Given the description of an element on the screen output the (x, y) to click on. 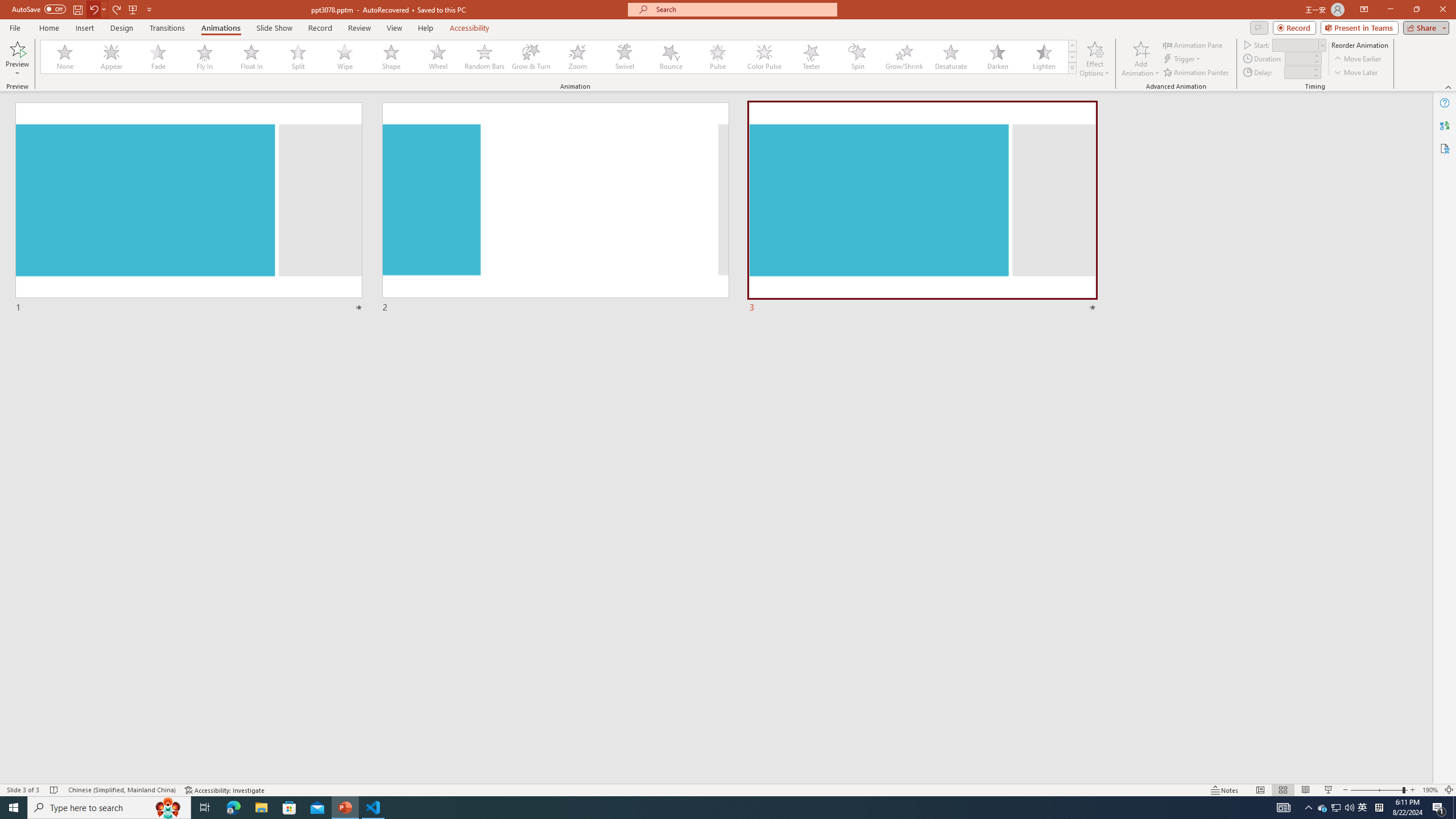
Add Animation (1141, 58)
Fly In (205, 56)
Spin (857, 56)
Wipe (344, 56)
Animation Duration (1298, 58)
